Given the description of an element on the screen output the (x, y) to click on. 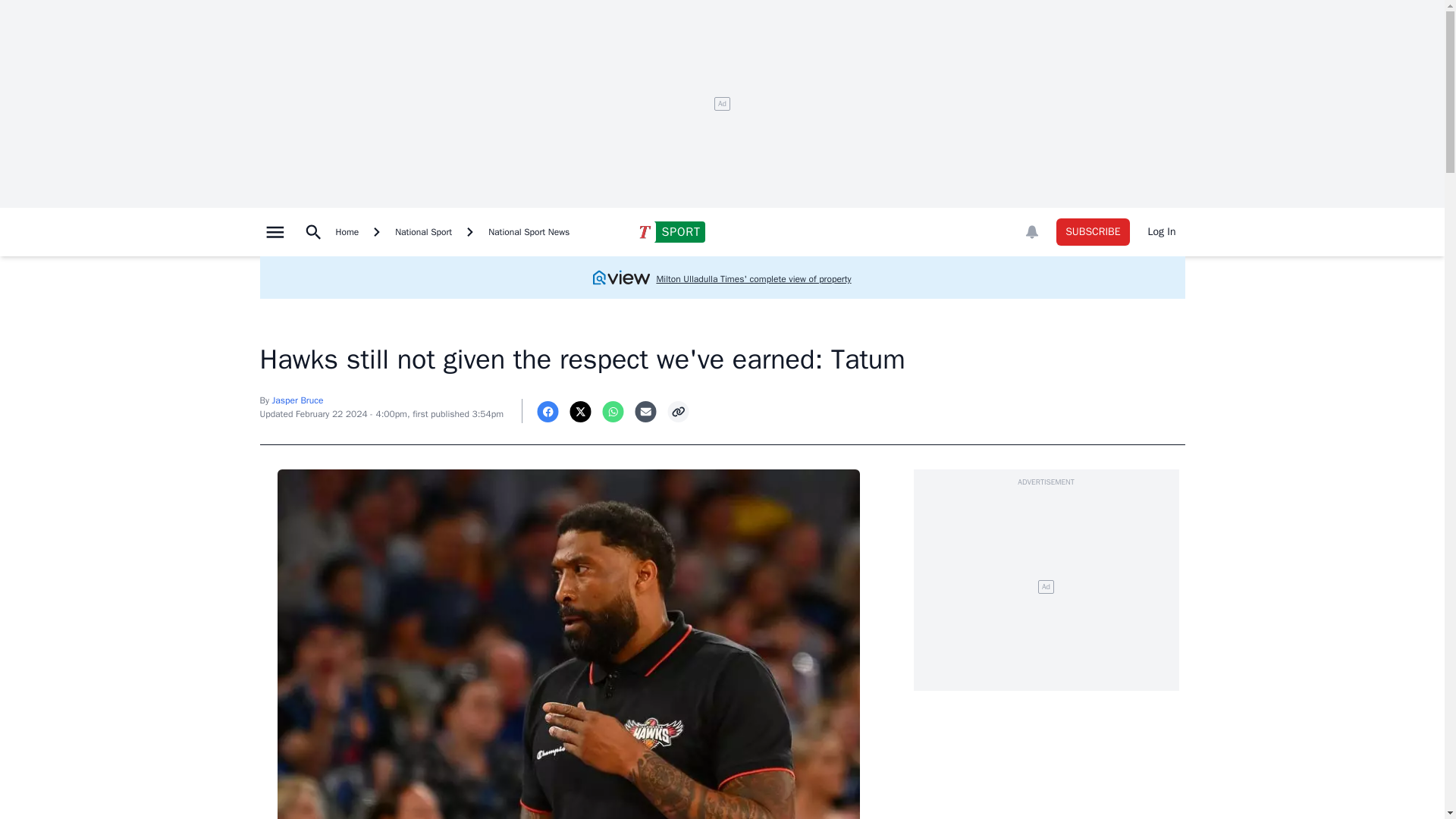
SUBSCRIBE (1093, 231)
Home (347, 232)
Log In (1161, 231)
National Sport News (528, 232)
SPORT (670, 231)
National Sport (423, 232)
